Given the description of an element on the screen output the (x, y) to click on. 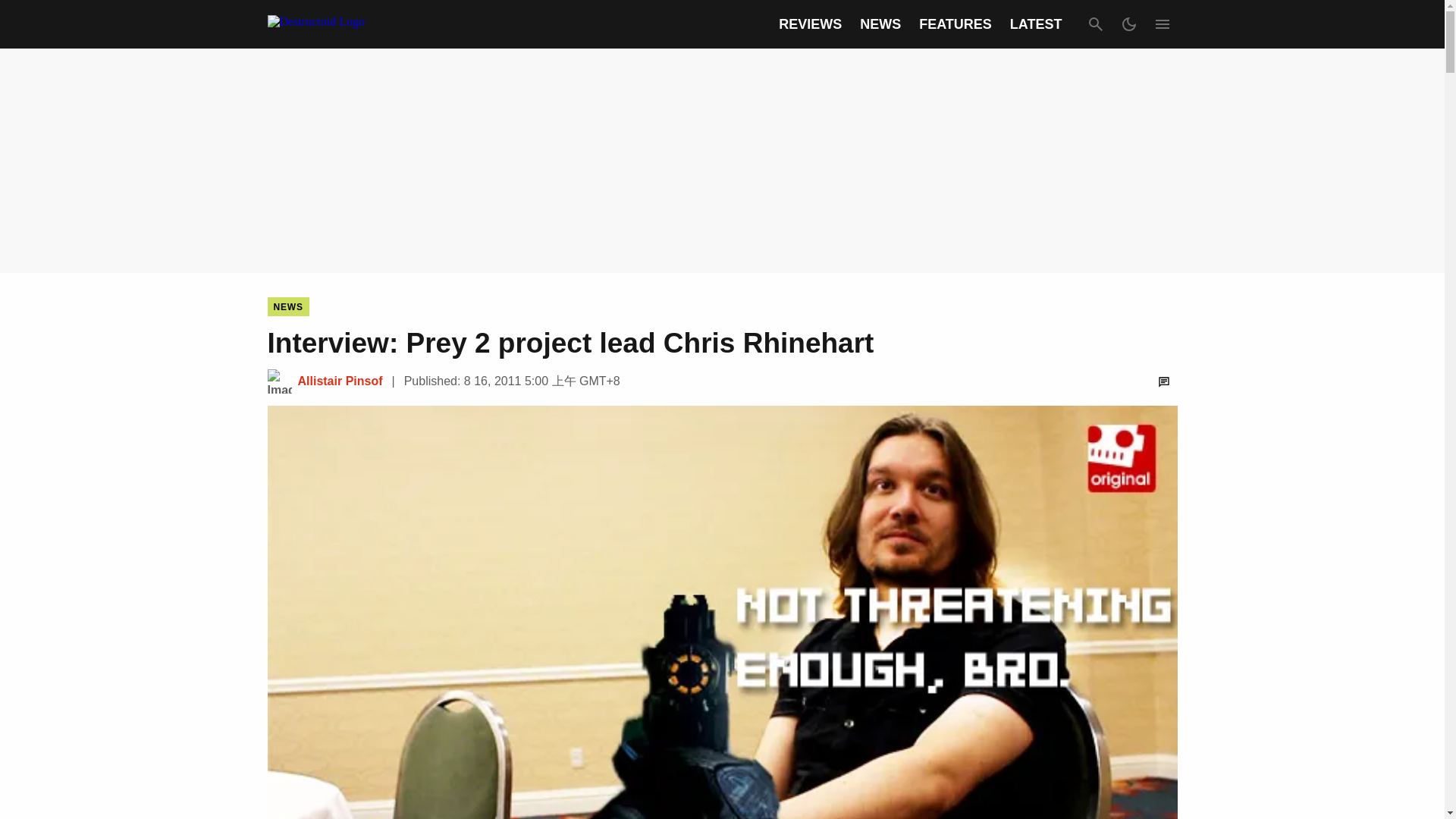
NEWS (880, 23)
Expand Menu (1161, 24)
Search (1094, 24)
LATEST (1036, 23)
Dark Mode (1127, 24)
NEWS (287, 306)
REVIEWS (809, 23)
FEATURES (954, 23)
